Given the description of an element on the screen output the (x, y) to click on. 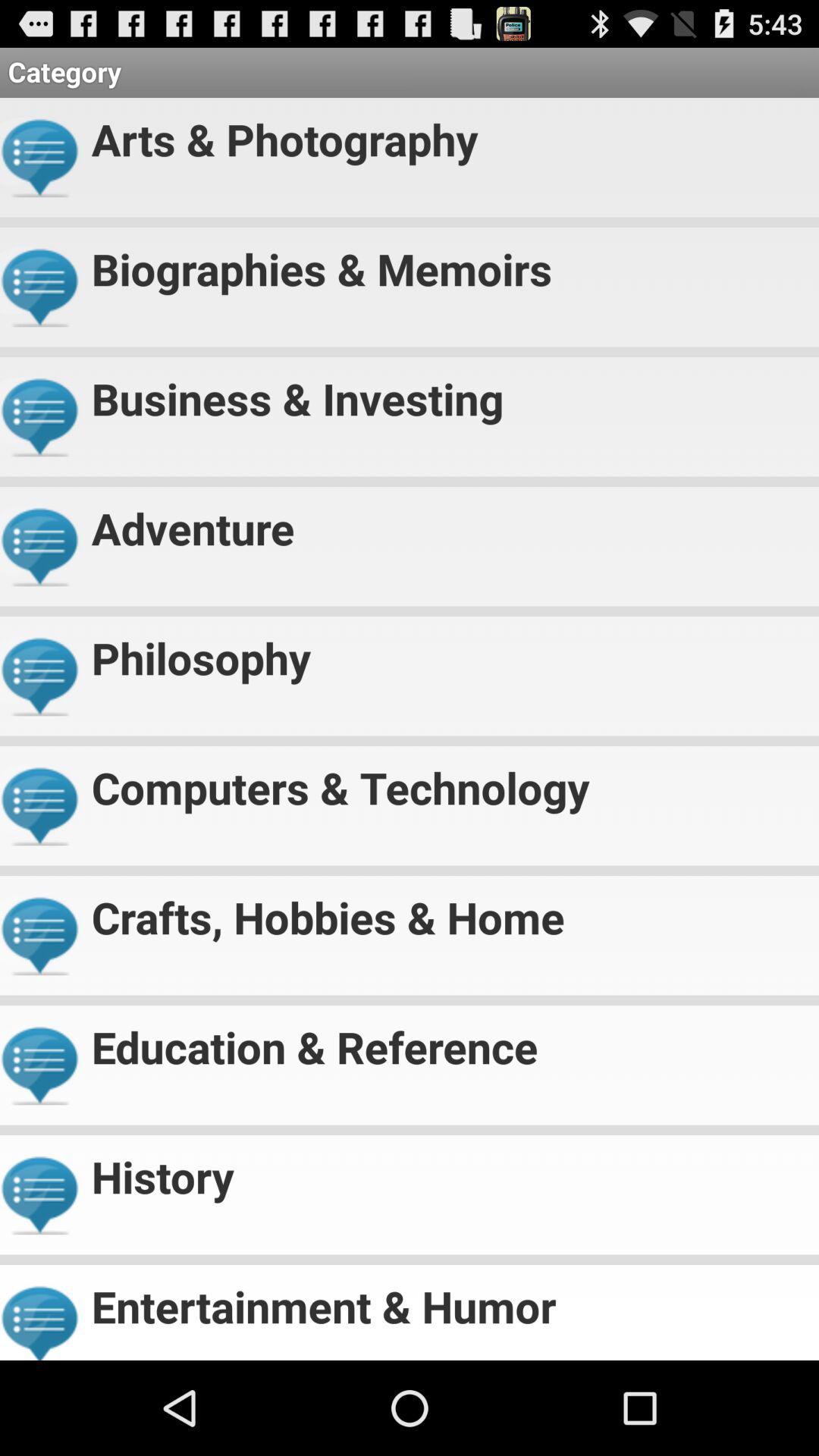
flip to the biographies & memoirs icon (449, 262)
